Given the description of an element on the screen output the (x, y) to click on. 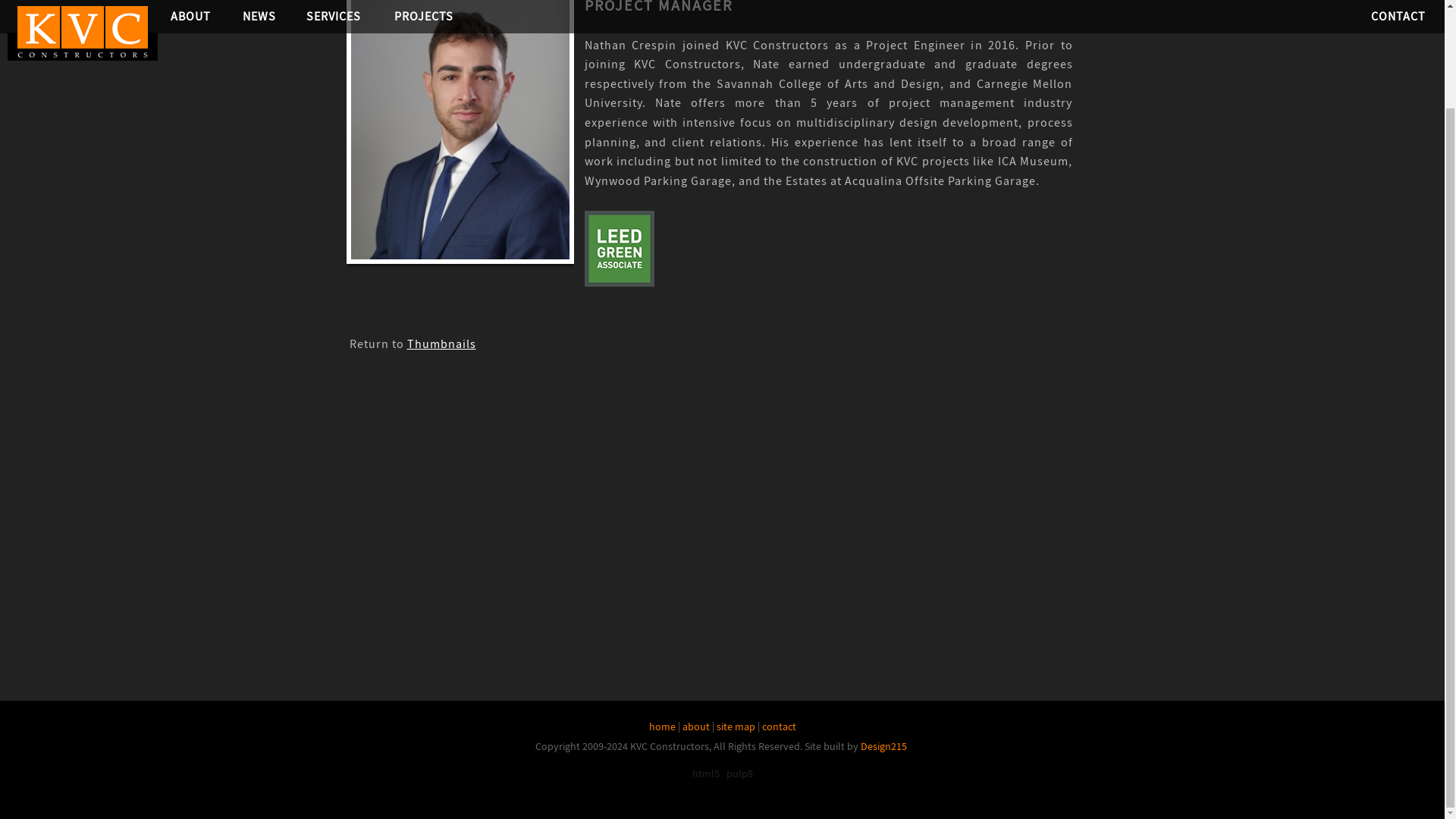
home (662, 726)
site map (735, 726)
contact (777, 726)
Design215 (883, 745)
about (696, 726)
Thumbnails (441, 344)
